Given the description of an element on the screen output the (x, y) to click on. 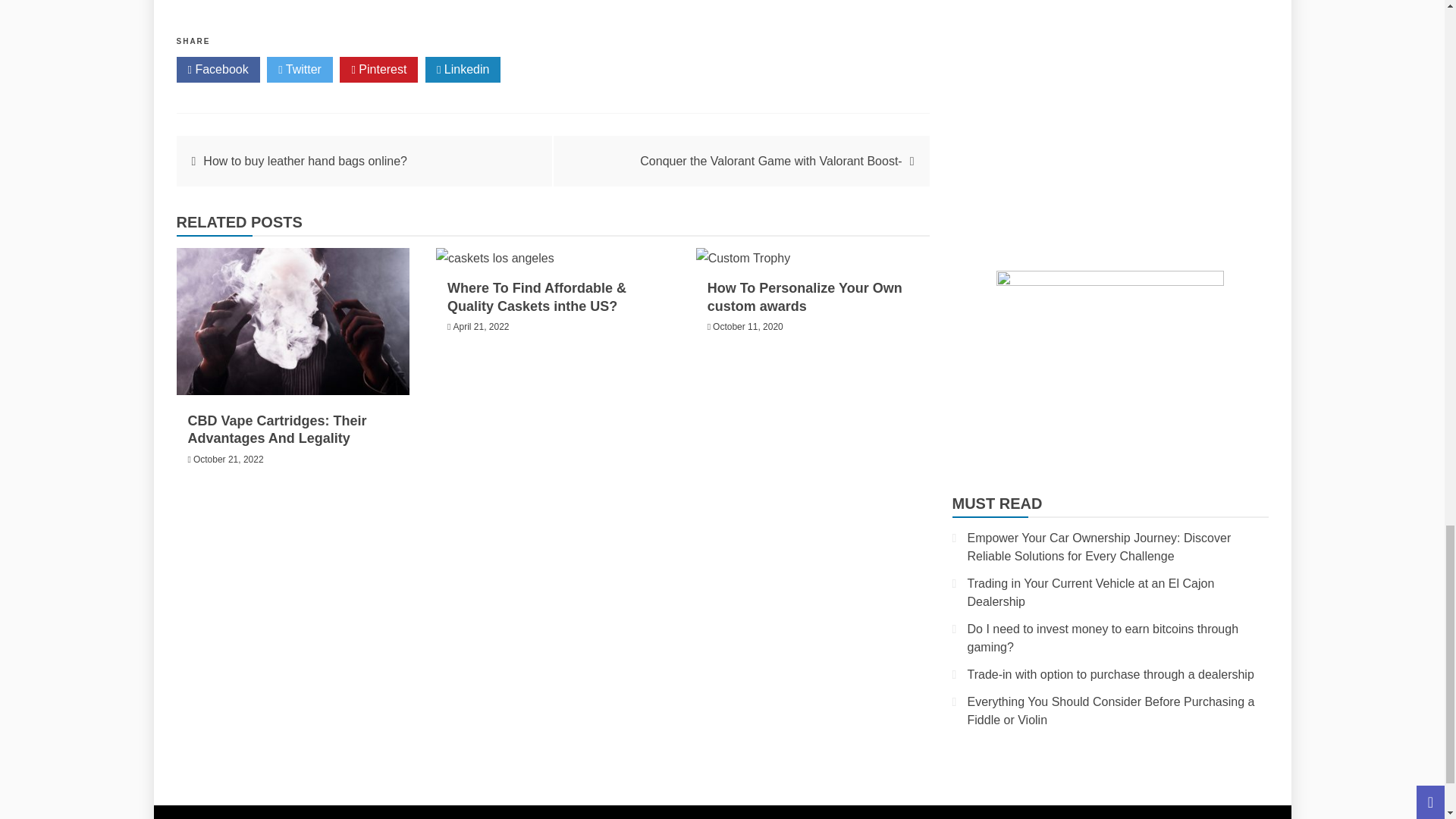
How To Personalize Your Own custom awards (804, 296)
Conquer the Valorant Game with Valorant Boost- (770, 160)
October 21, 2022 (228, 459)
Linkedin (462, 69)
CBD Vape Cartridges: Their Advantages And Legality (276, 429)
Facebook (217, 69)
October 11, 2020 (748, 326)
Twitter (299, 69)
Pinterest (378, 69)
How to buy leather hand bags online? (305, 160)
